Given the description of an element on the screen output the (x, y) to click on. 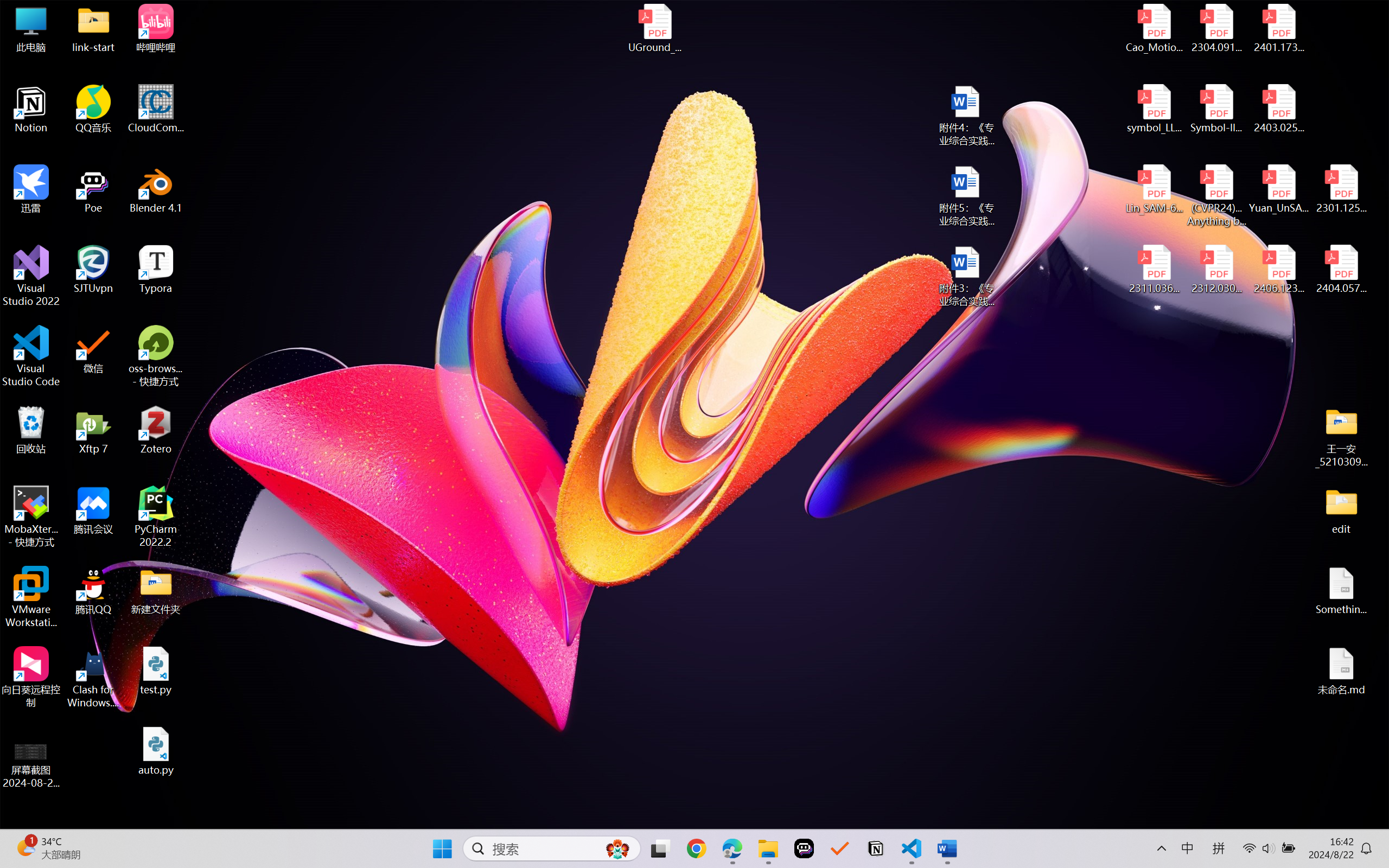
Visual Studio Code (31, 355)
Visual Studio 2022 (31, 276)
2406.12373v2.pdf (1278, 269)
UGround_paper.pdf (654, 28)
